Given the description of an element on the screen output the (x, y) to click on. 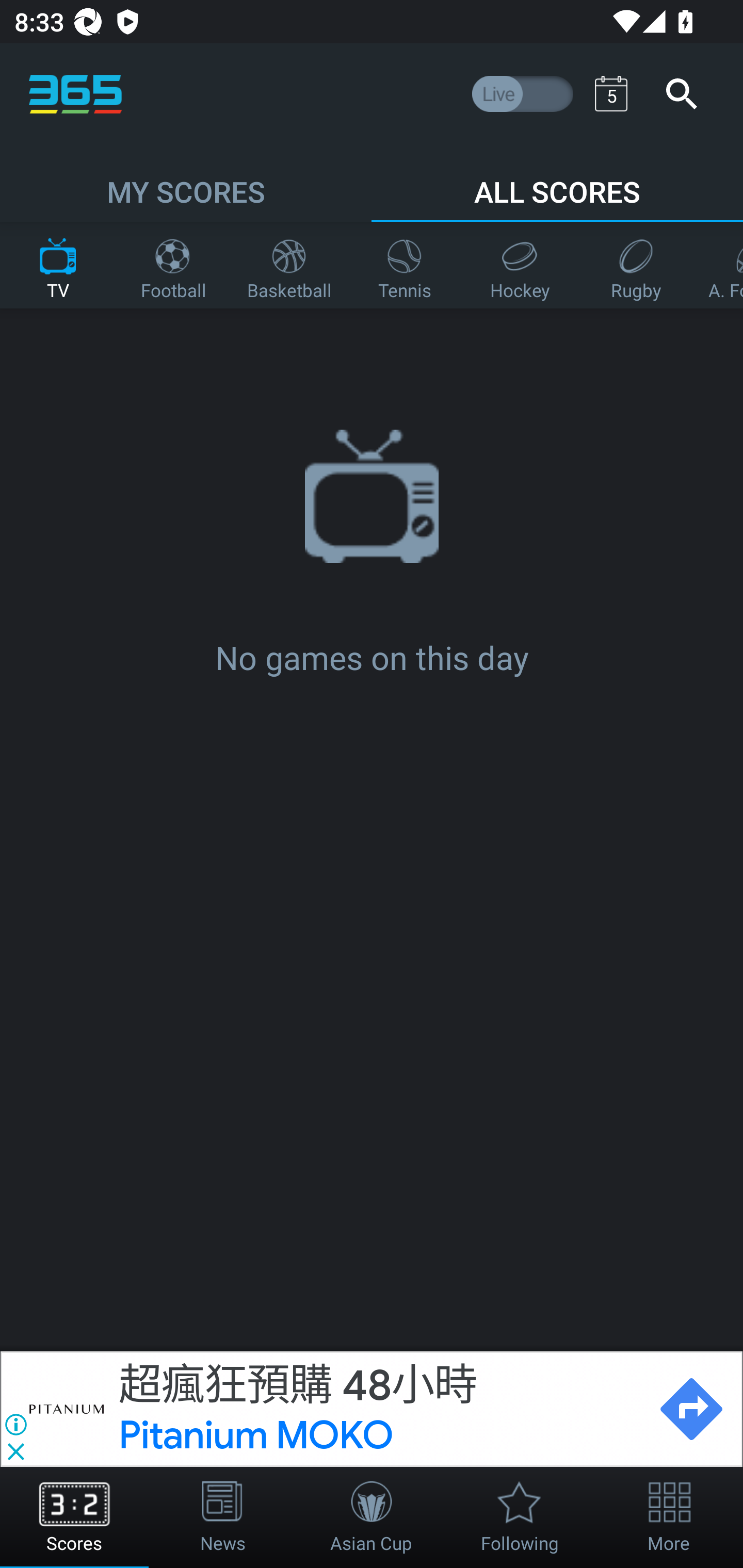
Search (681, 93)
5 (611, 93)
MY SCORES (185, 182)
ALL SCORES (557, 182)
TV (57, 264)
Football (173, 264)
Basketball (288, 264)
Tennis (404, 264)
Hockey (520, 264)
Rugby (635, 264)
超瘋狂預購 48小時 Pitanium MOKO 超瘋狂預購 48小時 Pitanium MOKO (379, 1409)
News (222, 1517)
Asian Cup (371, 1517)
Following (519, 1517)
More (668, 1517)
